Given the description of an element on the screen output the (x, y) to click on. 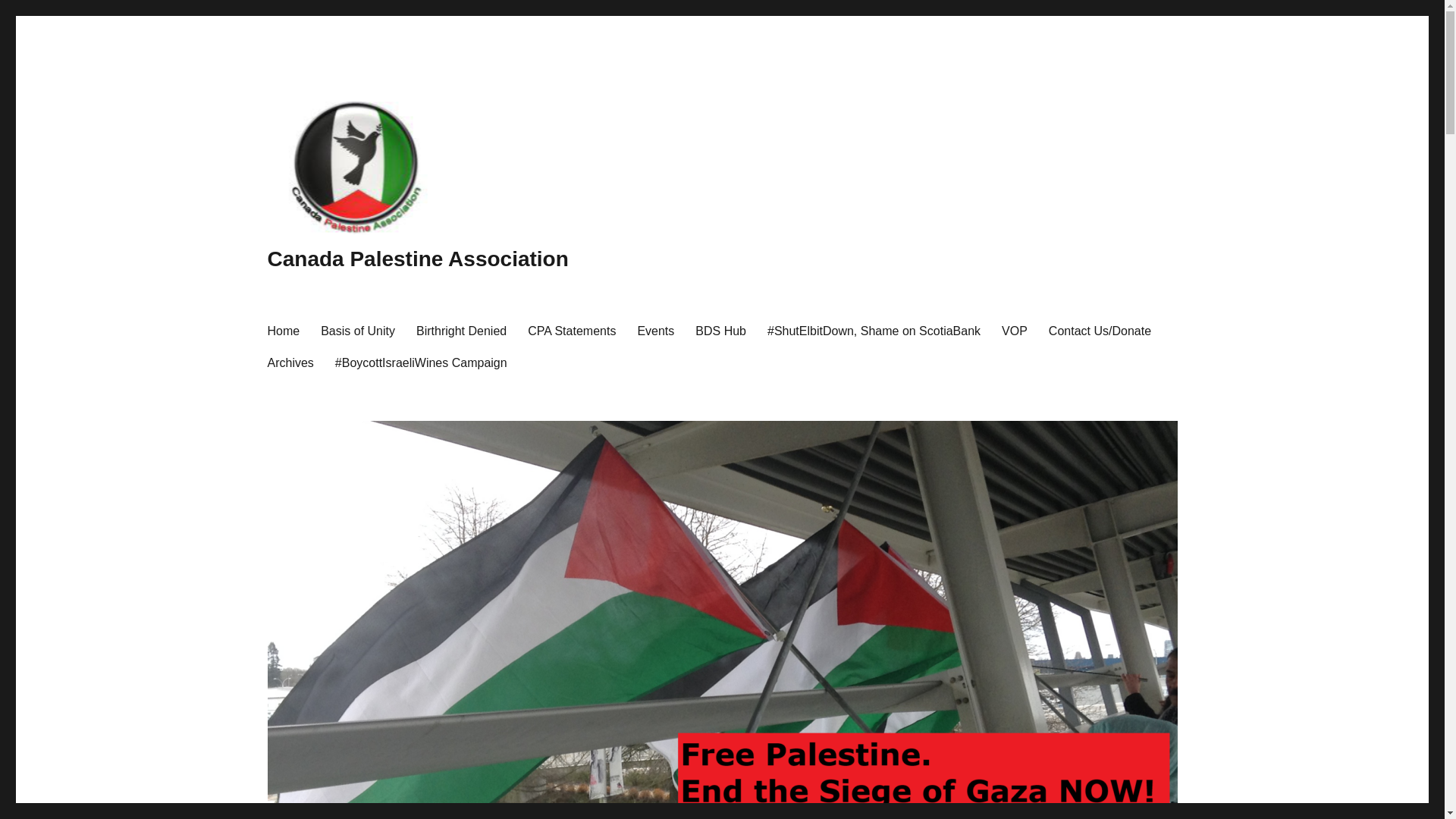
BDS Hub (720, 330)
VOP (1014, 330)
Basis of Unity (358, 330)
basis-of-unity (358, 330)
Birthright Denied (461, 330)
Canada Palestine Association (416, 259)
Events (655, 330)
CPA Statements (571, 330)
Archives (289, 362)
Home (283, 330)
